Given the description of an element on the screen output the (x, y) to click on. 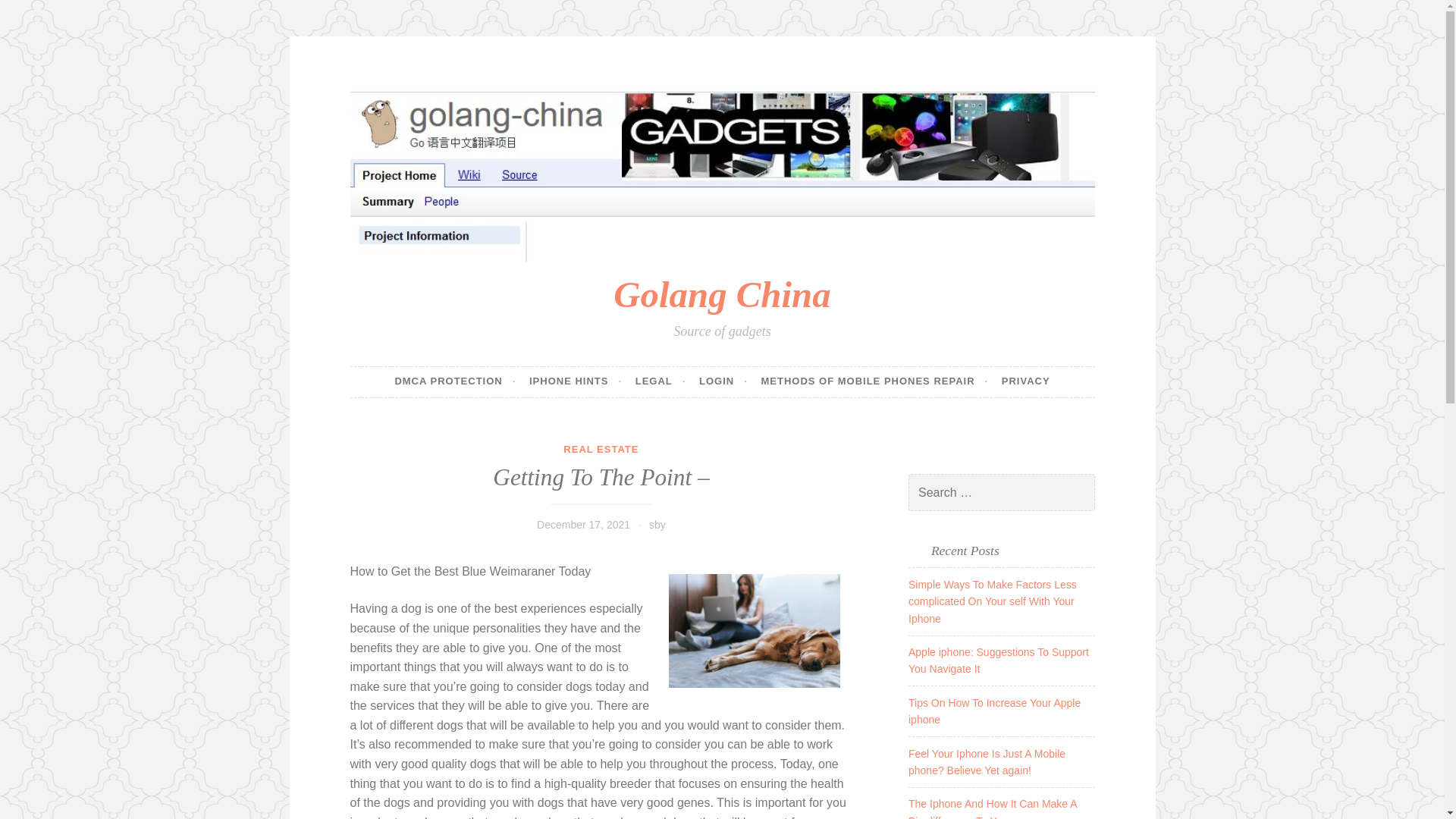
DMCA PROTECTION (454, 381)
December 17, 2021 (583, 524)
Tips On How To Increase Your Apple iphone (994, 710)
The Iphone And How It Can Make A Big difference To You (992, 808)
Feel Your Iphone Is Just A Mobile phone? Believe Yet again! (986, 761)
LOGIN (723, 381)
Golang China (720, 294)
Search (33, 13)
METHODS OF MOBILE PHONES REPAIR (874, 381)
sby (657, 524)
